Given the description of an element on the screen output the (x, y) to click on. 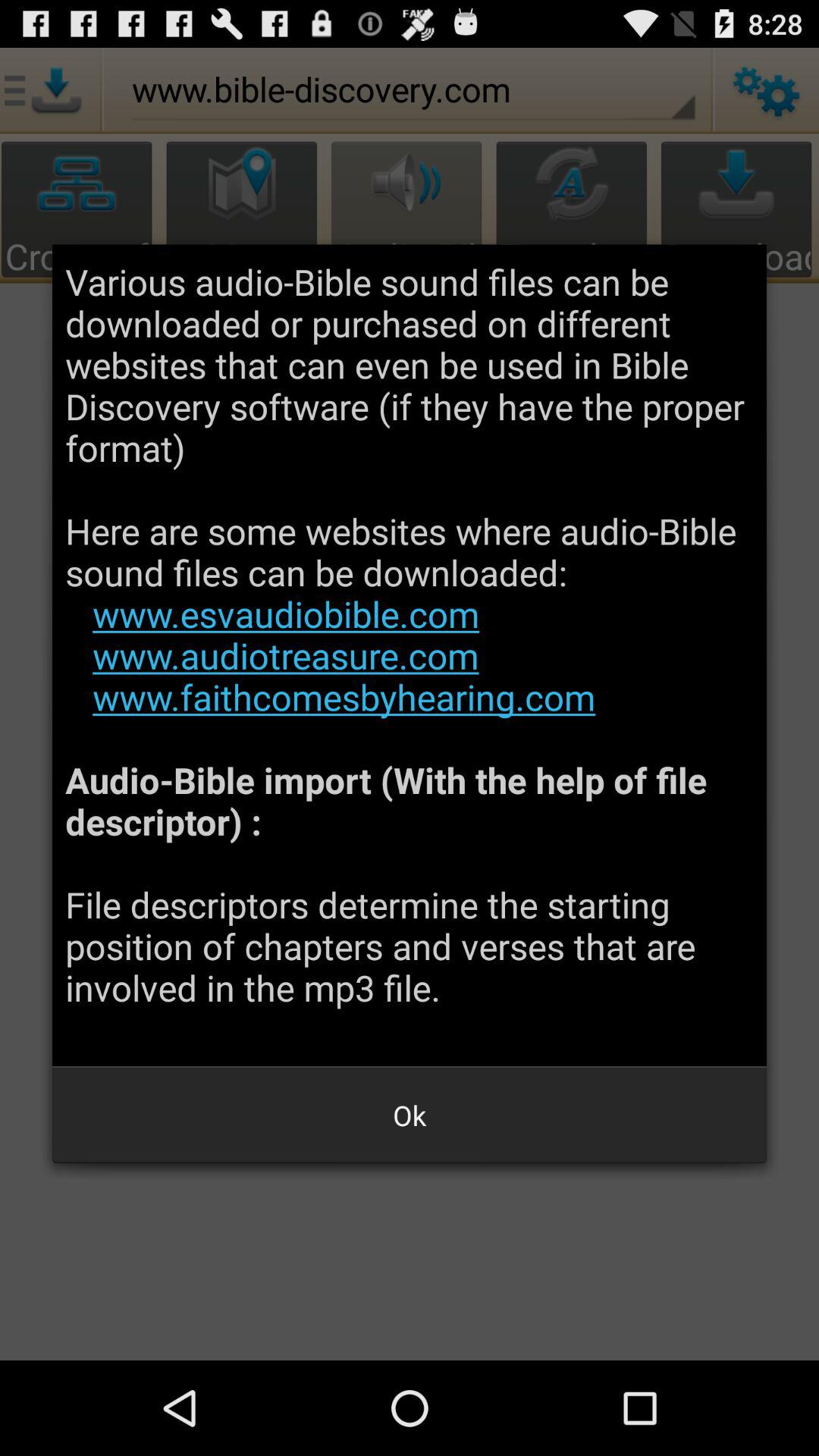
tap the icon at the bottom (409, 1115)
